Given the description of an element on the screen output the (x, y) to click on. 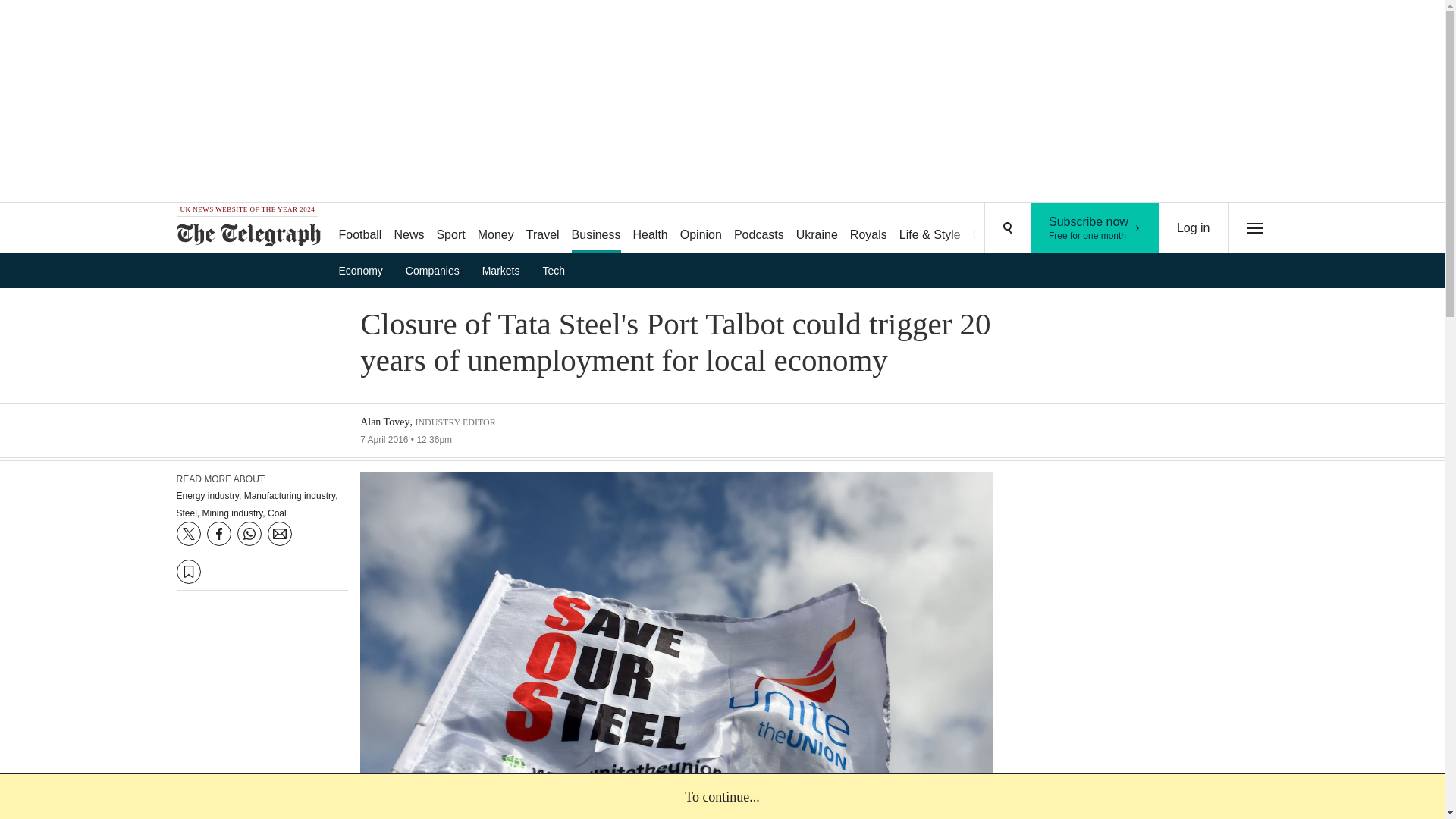
Ukraine (817, 228)
Companies (437, 270)
Culture (991, 228)
Log in (1193, 228)
Money (495, 228)
Podcasts (759, 228)
Business (596, 228)
Royals (868, 228)
Health (649, 228)
Puzzles (1094, 228)
Travel (1044, 228)
Opinion (542, 228)
Economy (701, 228)
Football (364, 270)
